Given the description of an element on the screen output the (x, y) to click on. 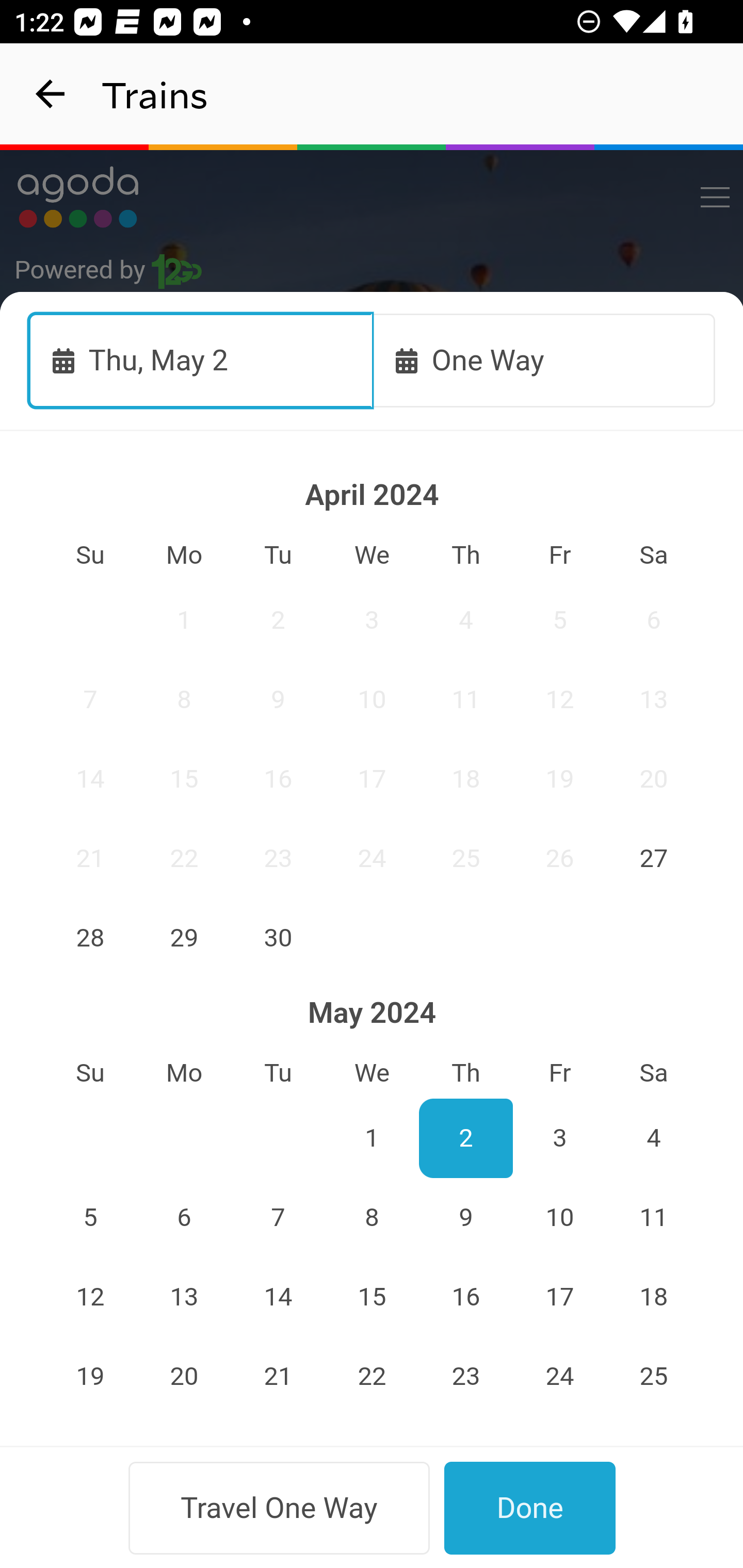
navigation_button (50, 93)
Thu, May 2 (200, 359)
One Way (544, 359)
1 (184, 620)
2 (278, 620)
3 (372, 620)
4 (465, 620)
5 (559, 620)
6 (654, 620)
7 (90, 699)
8 (184, 699)
9 (278, 699)
10 (372, 699)
11 (465, 699)
12 (559, 699)
13 (654, 699)
14 (90, 779)
15 (184, 779)
16 (278, 779)
17 (372, 779)
18 (465, 779)
19 (559, 779)
20 (654, 779)
21 (90, 858)
22 (184, 858)
23 (278, 858)
24 (372, 858)
25 (465, 858)
26 (559, 858)
27 (654, 858)
28 (90, 937)
29 (184, 937)
30 (278, 937)
1 (372, 1138)
2 (465, 1138)
3 (559, 1138)
4 (654, 1138)
5 (90, 1218)
6 (184, 1218)
7 (278, 1218)
8 (372, 1218)
9 (465, 1218)
10 (559, 1218)
11 (654, 1218)
12 (90, 1296)
13 (184, 1296)
14 (278, 1296)
15 (372, 1296)
16 (465, 1296)
17 (559, 1296)
18 (654, 1296)
19 (90, 1376)
20 (184, 1376)
21 (278, 1376)
22 (372, 1376)
23 (465, 1376)
24 (559, 1376)
25 (654, 1376)
Travel One Way (278, 1508)
Done (530, 1508)
